Given the description of an element on the screen output the (x, y) to click on. 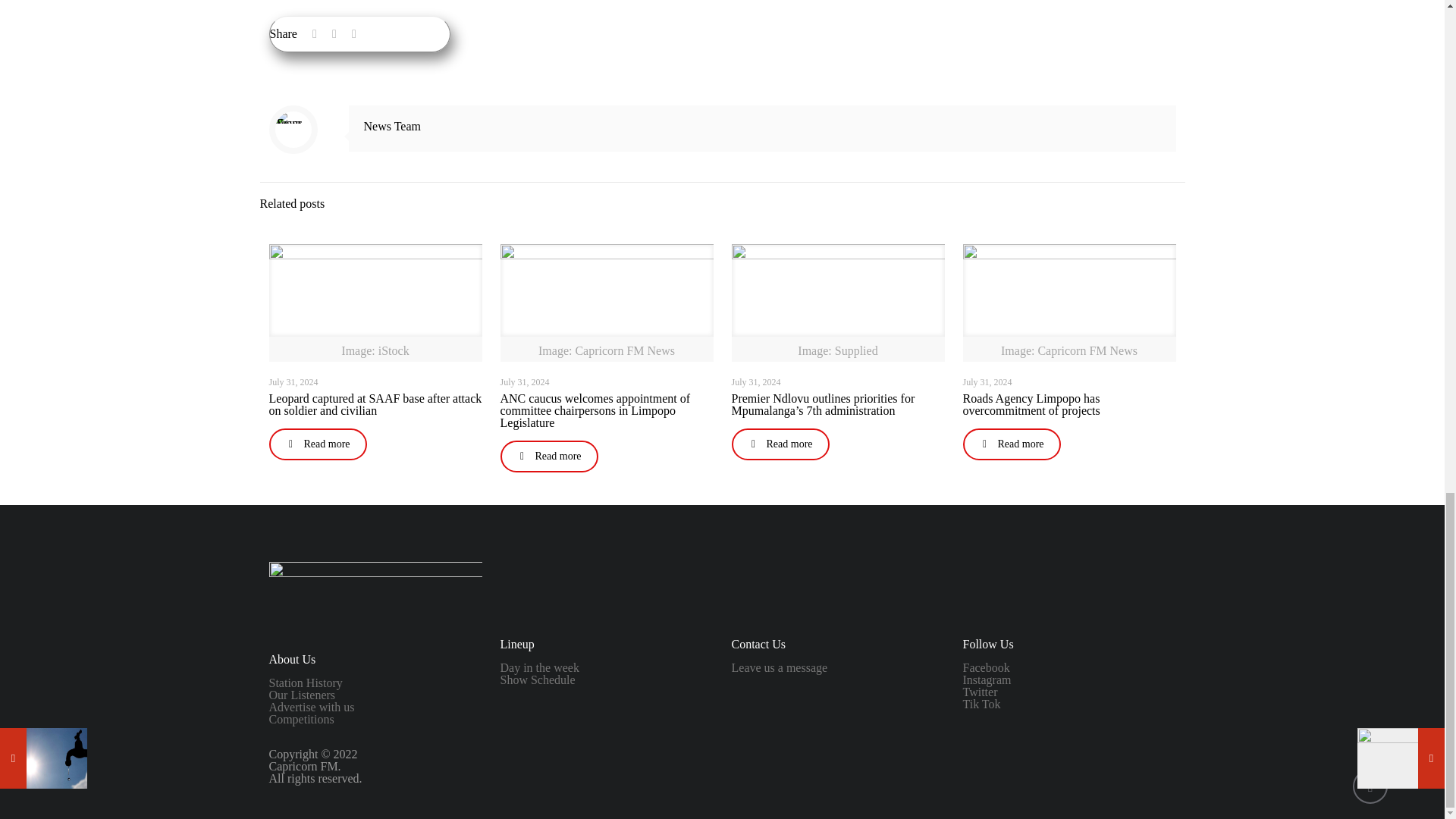
Read more (316, 444)
Read more (549, 456)
Read more (779, 444)
News Team (392, 125)
